Given the description of an element on the screen output the (x, y) to click on. 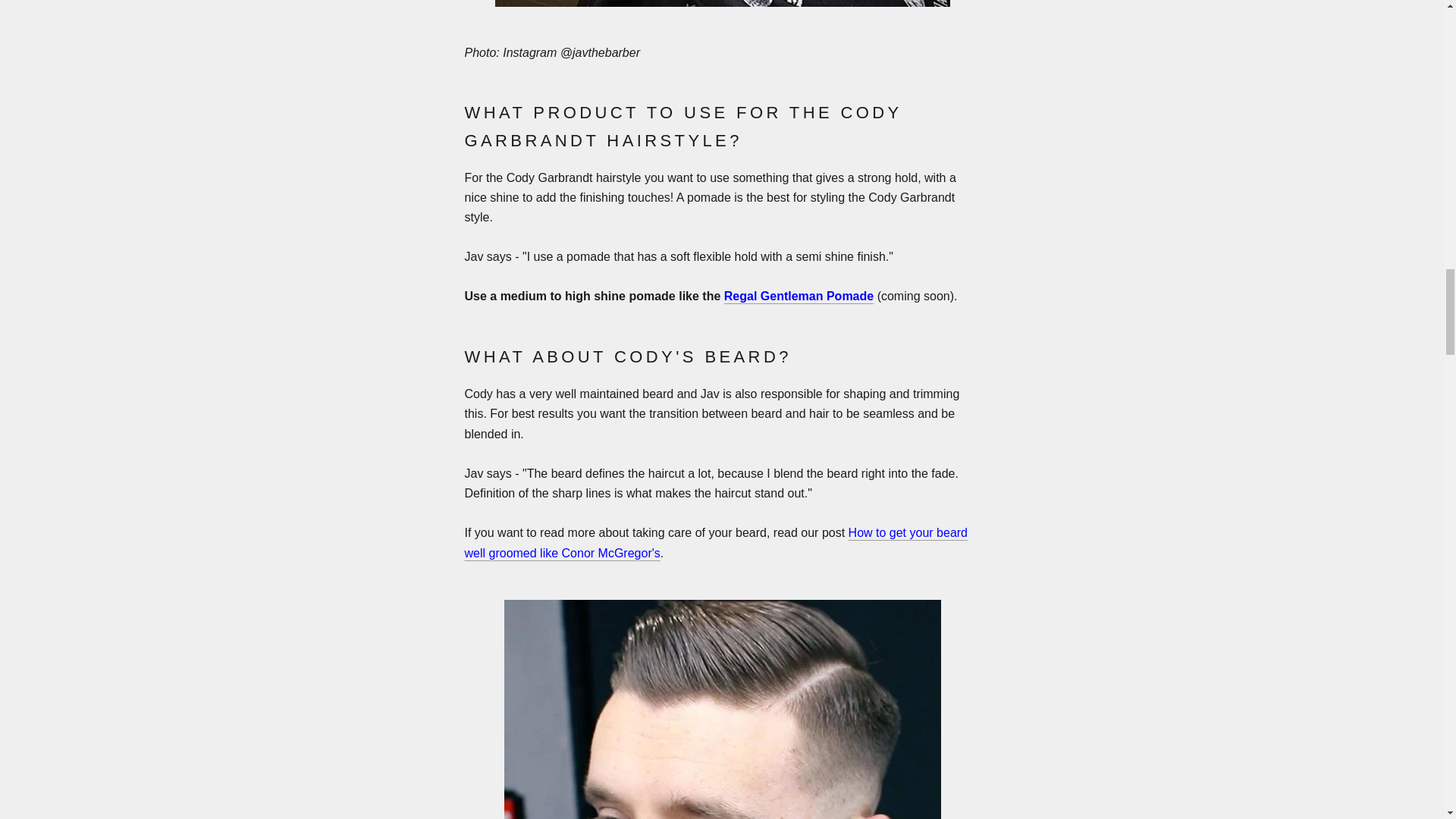
How To Get Your Beard Well Groomed Like Conor McGregor's (716, 542)
